Given the description of an element on the screen output the (x, y) to click on. 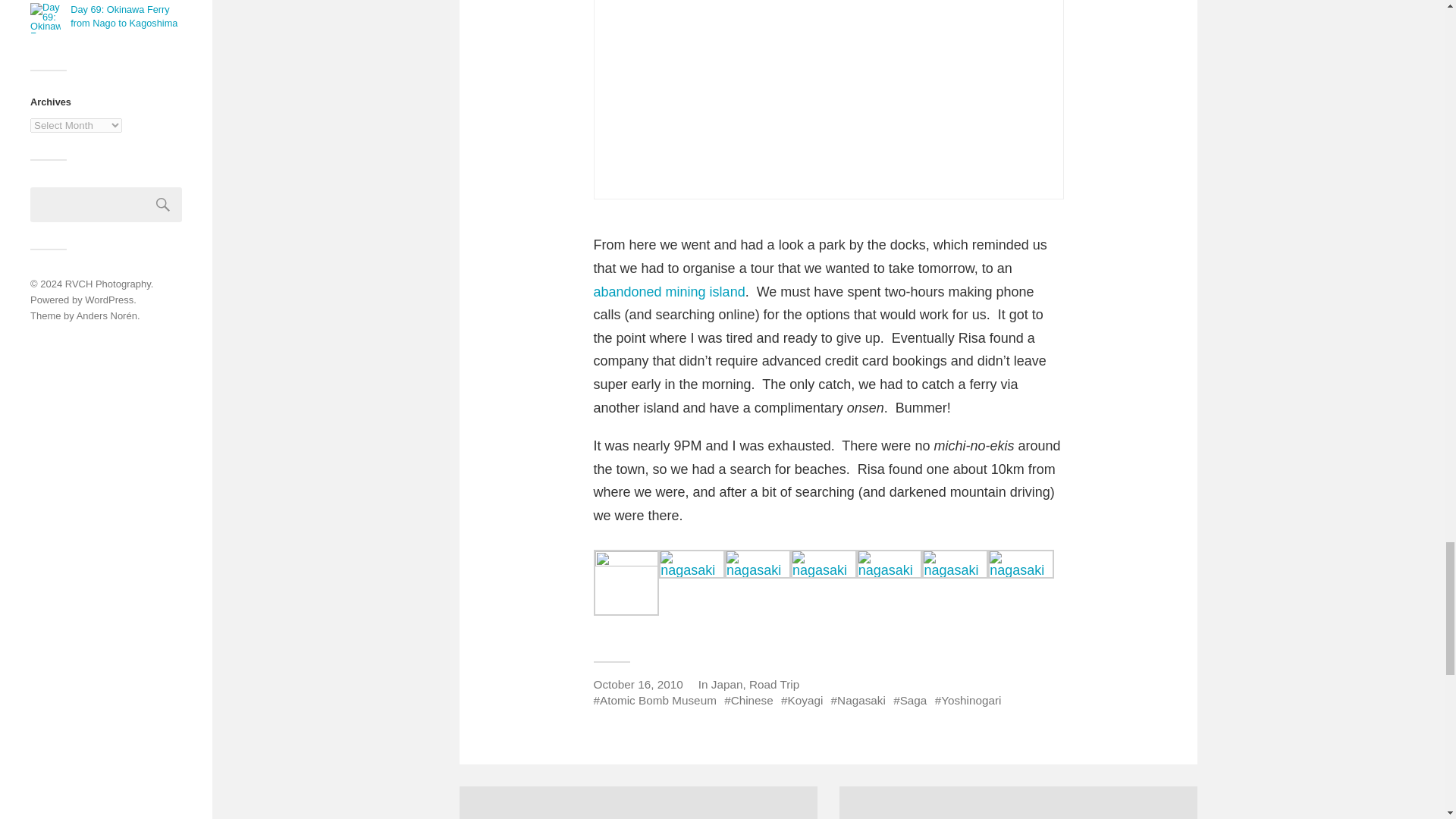
Search (163, 204)
